Given the description of an element on the screen output the (x, y) to click on. 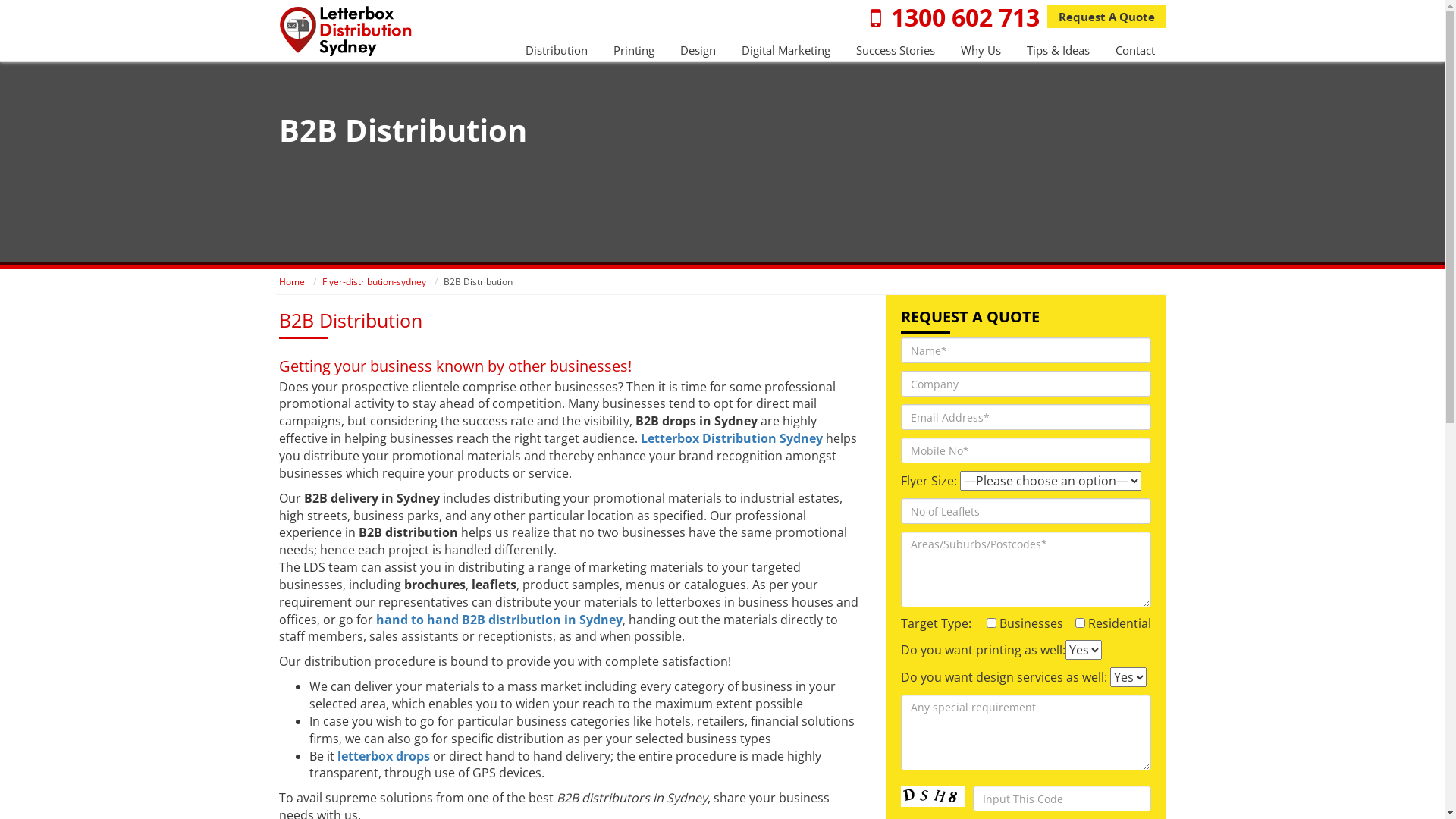
hand to hand B2B distribution in Sydney Element type: text (499, 619)
Contact Element type: text (1134, 49)
Letterbox Distribution Sydney Element type: text (731, 437)
Home Element type: text (291, 281)
Why Us Element type: text (979, 49)
Design Element type: text (696, 49)
Request A Quote Element type: text (1105, 16)
Printing Element type: text (633, 49)
Success Stories Element type: text (894, 49)
Tips & Ideas Element type: text (1058, 49)
Digital Marketing Element type: text (785, 49)
letterbox drops Element type: text (382, 755)
Distribution Element type: text (555, 49)
Flyer-distribution-sydney Element type: text (373, 281)
